Given the description of an element on the screen output the (x, y) to click on. 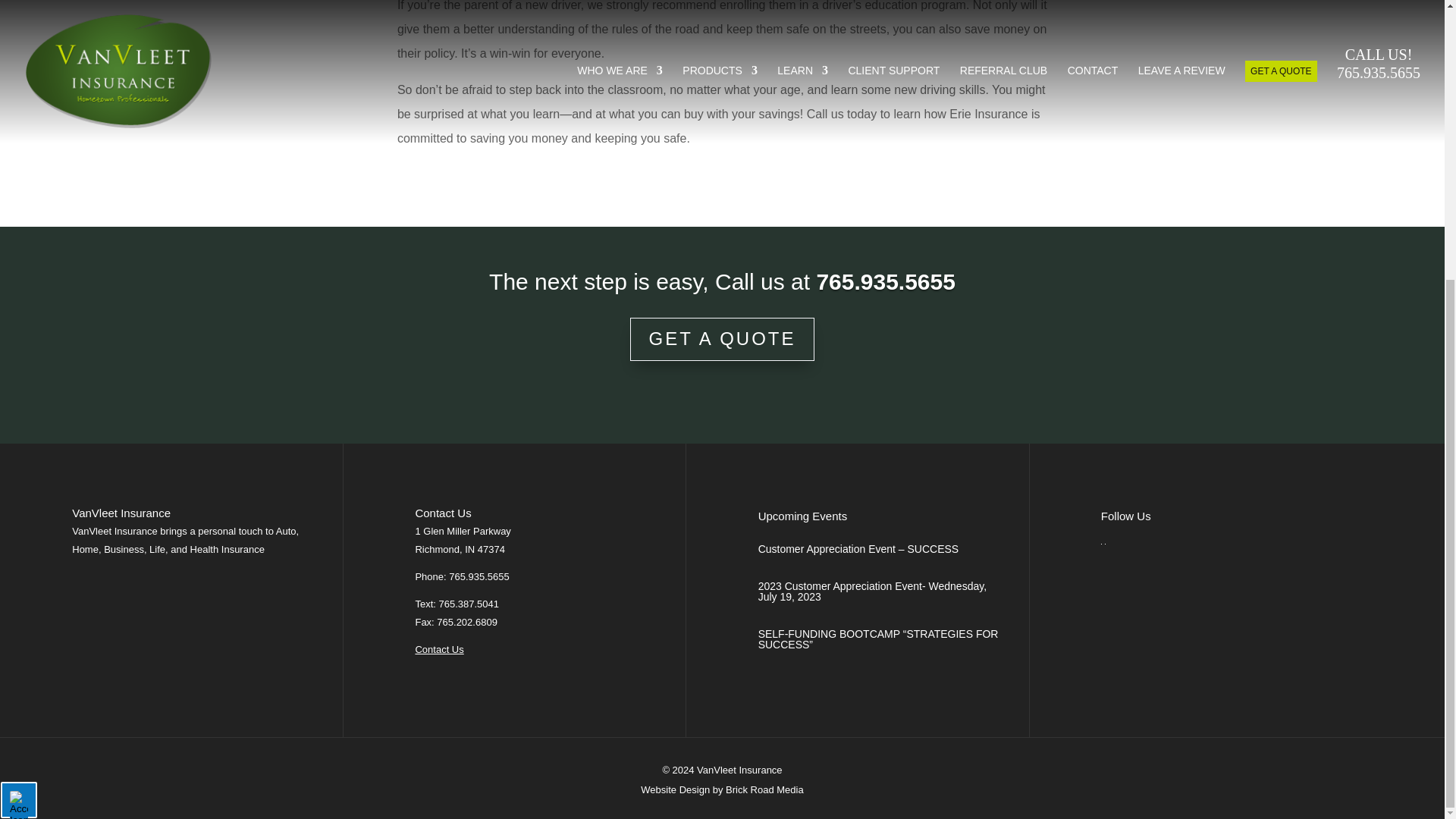
2023 Customer Appreciation Event- Wednesday, July 19, 2023 (872, 590)
Contact Us (438, 649)
765.935.5655 (885, 281)
GET A QUOTE (722, 339)
Website Design by Brick Road Media (721, 789)
